Given the description of an element on the screen output the (x, y) to click on. 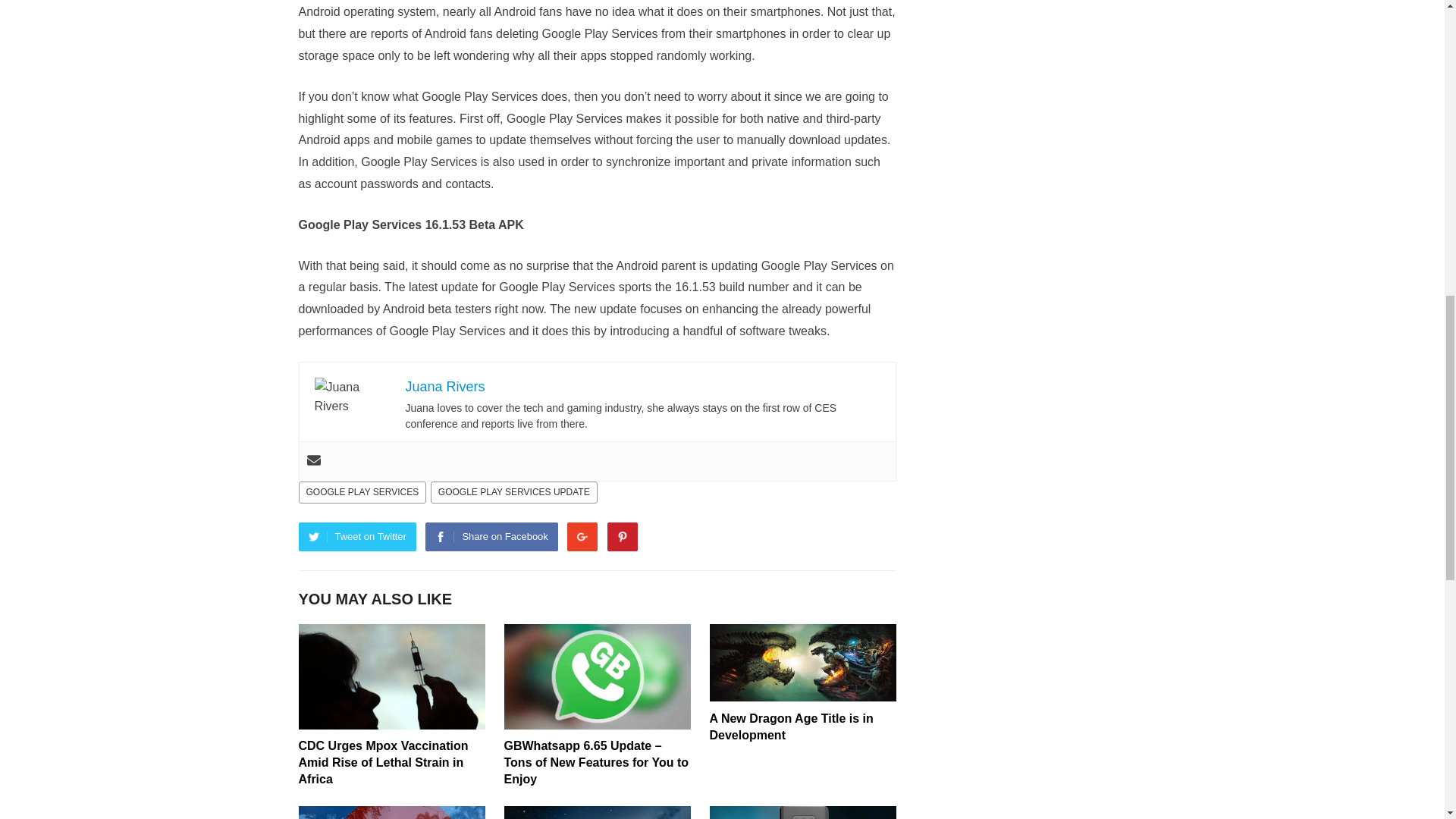
Share on Facebook (491, 536)
Juana Rivers (444, 386)
GOOGLE PLAY SERVICES UPDATE (513, 492)
Pinterest (622, 536)
A New Dragon Age Title is in Development (791, 726)
Tweet on Twitter (357, 536)
GOOGLE PLAY SERVICES (362, 492)
